Given the description of an element on the screen output the (x, y) to click on. 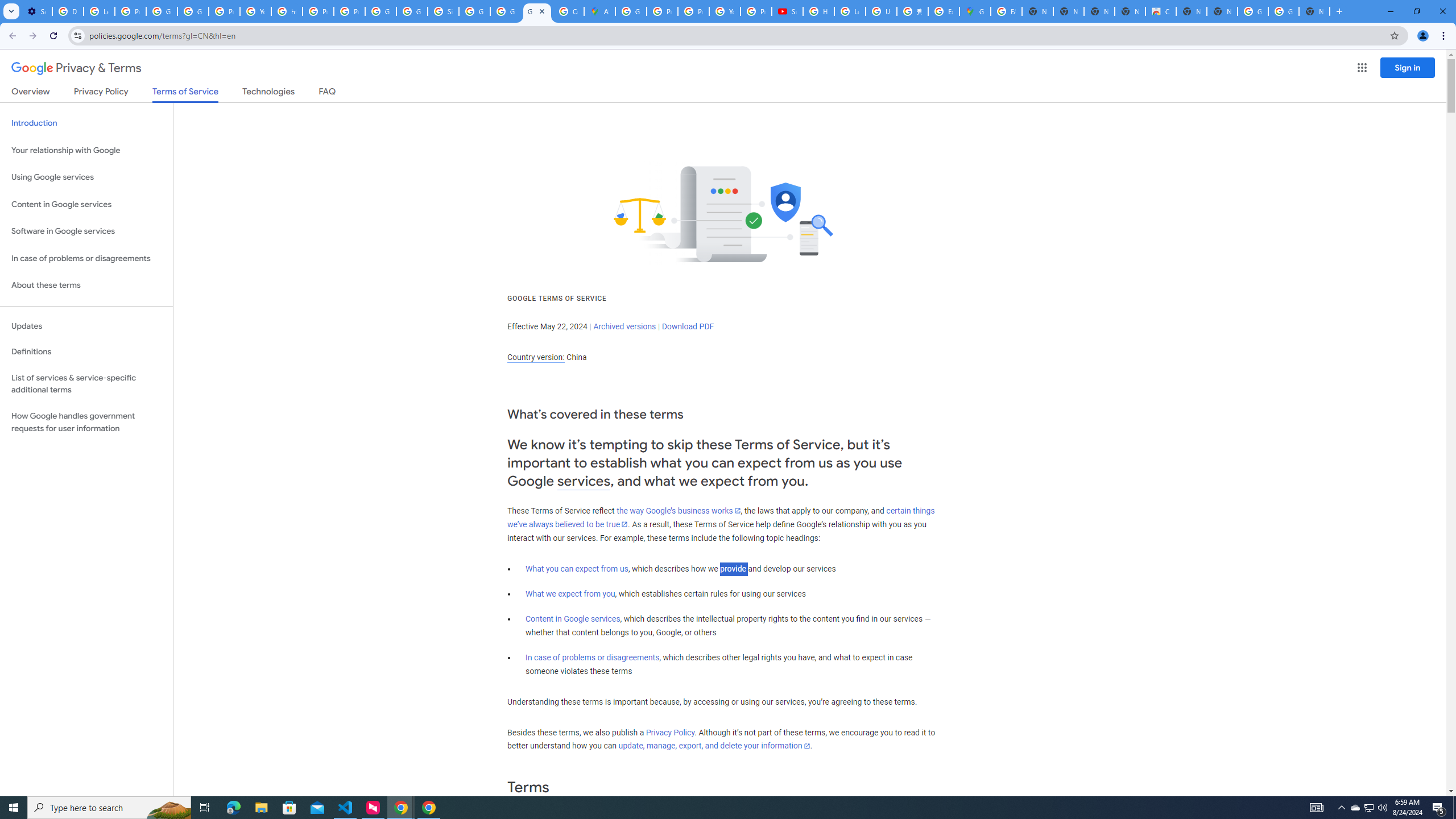
Content in Google services (572, 618)
Privacy Help Center - Policies Help (318, 11)
Technologies (268, 93)
Delete photos & videos - Computer - Google Photos Help (67, 11)
Your relationship with Google (86, 150)
